Given the description of an element on the screen output the (x, y) to click on. 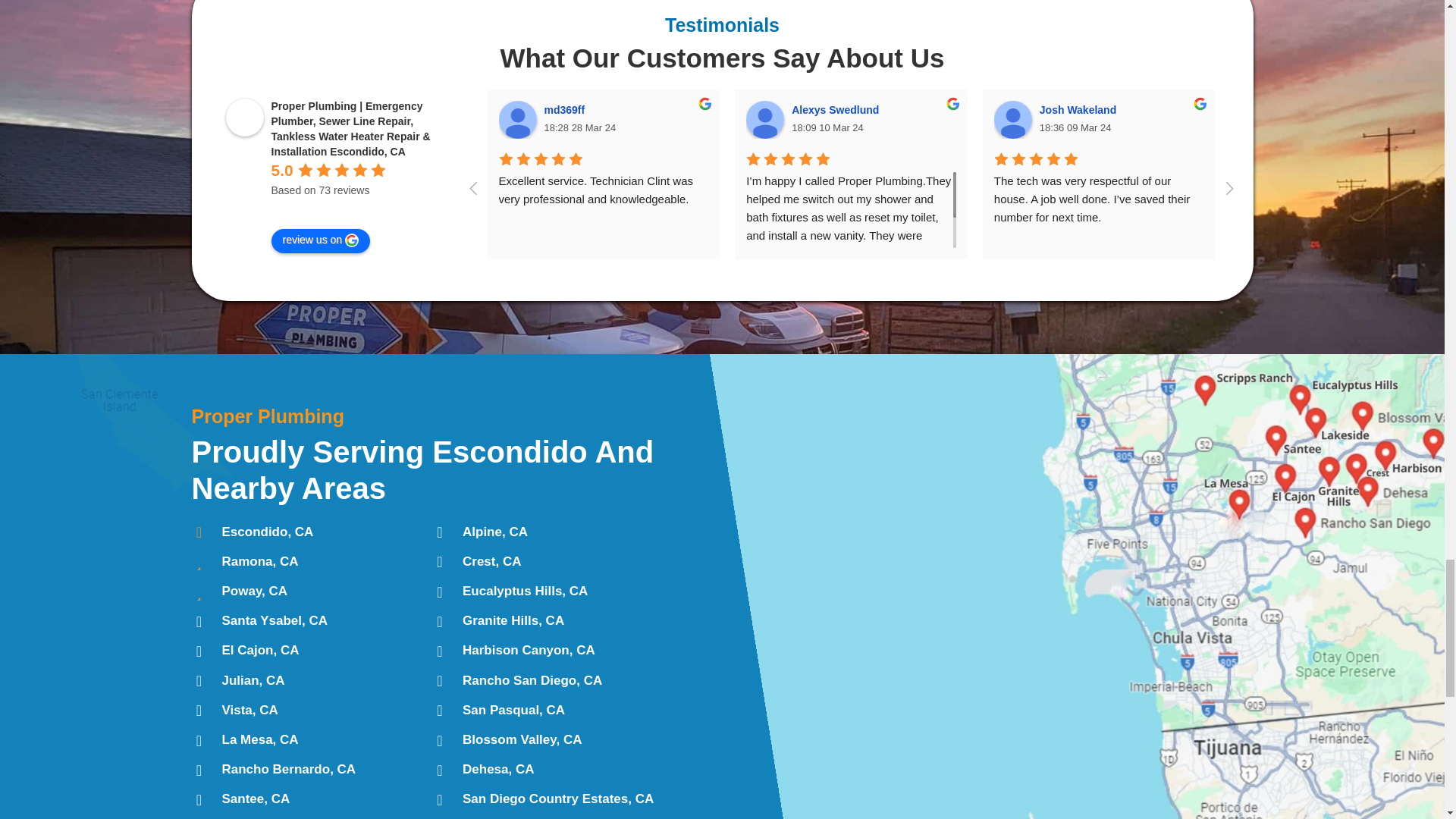
md369ff (518, 119)
Josh Wakeland (1013, 119)
Alexys Swedlund (764, 119)
Becca Watters (1260, 119)
powered by Google (325, 209)
review us on (320, 241)
